Given the description of an element on the screen output the (x, y) to click on. 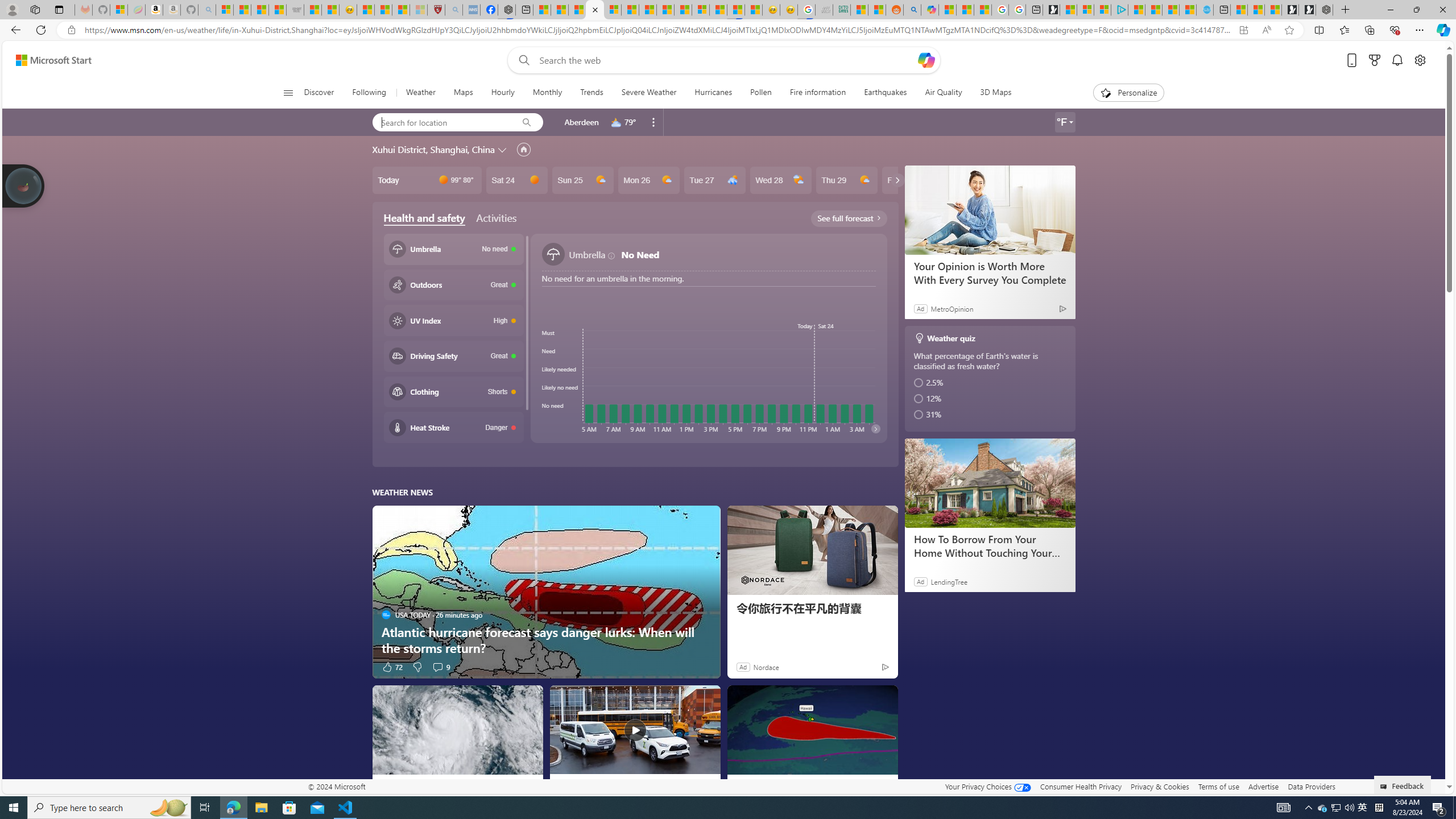
12% (990, 398)
Navy Quest (823, 9)
New Tab (1346, 9)
Personal Profile (12, 9)
Personalize (1128, 92)
Restore (1416, 9)
Robert H. Shmerling, MD - Harvard Health (435, 9)
Open settings (1420, 60)
Advertise (1263, 786)
Recipes - MSN (366, 9)
Play Free Online Games | Games from Microsoft Start (1307, 9)
Open Copilot (926, 59)
